Given the description of an element on the screen output the (x, y) to click on. 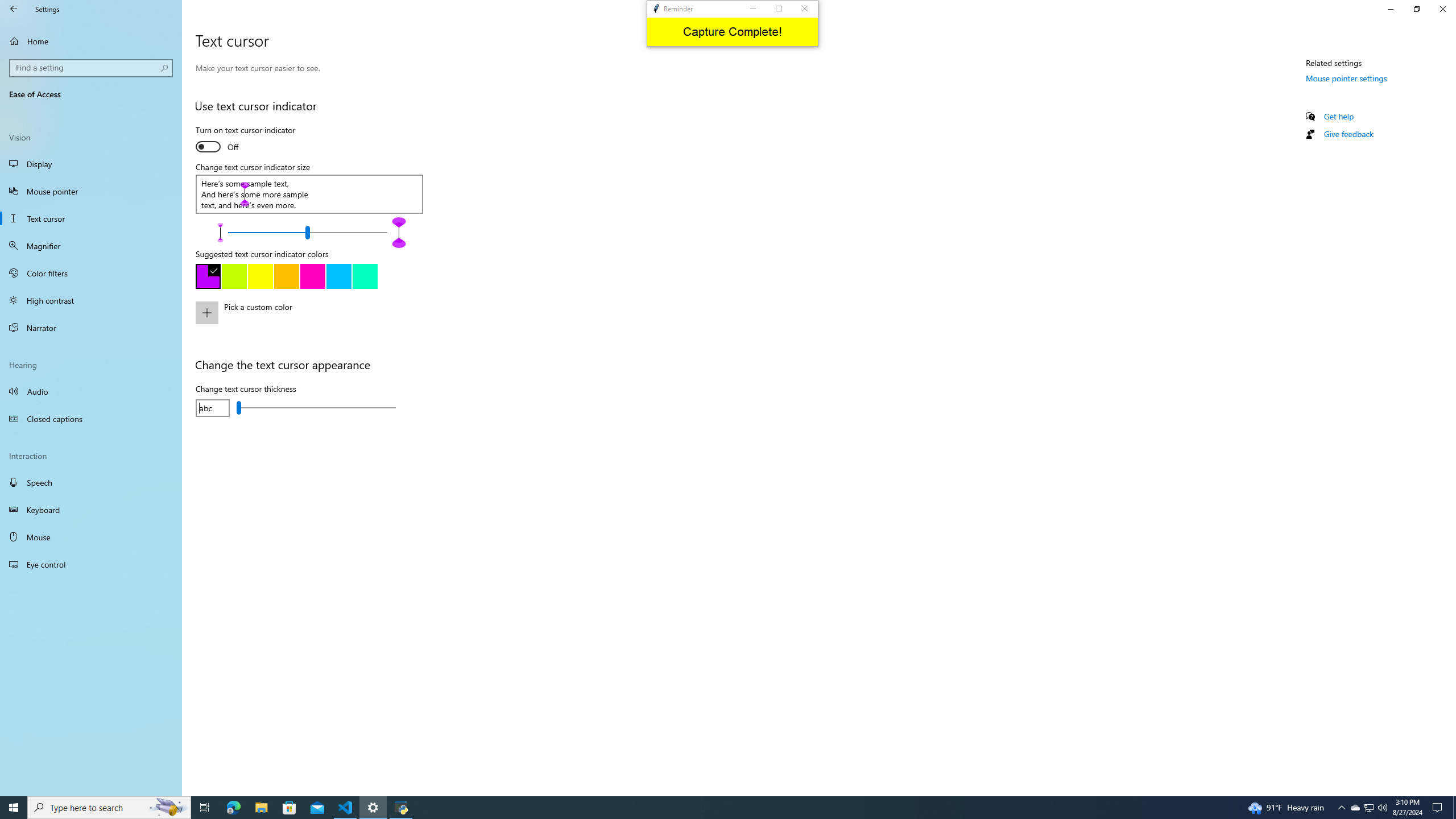
Gold (1368, 807)
Yellow (285, 276)
Mouse pointer settings (260, 276)
Pick a custom color (1346, 77)
Audio (1355, 807)
Show desktop (319, 320)
Speech (91, 390)
Eye control (1454, 807)
Give feedback (91, 482)
Search box, Find a setting (91, 564)
Microsoft Store (1348, 133)
Change text cursor indicator size (91, 67)
Microsoft Edge (289, 807)
